Given the description of an element on the screen output the (x, y) to click on. 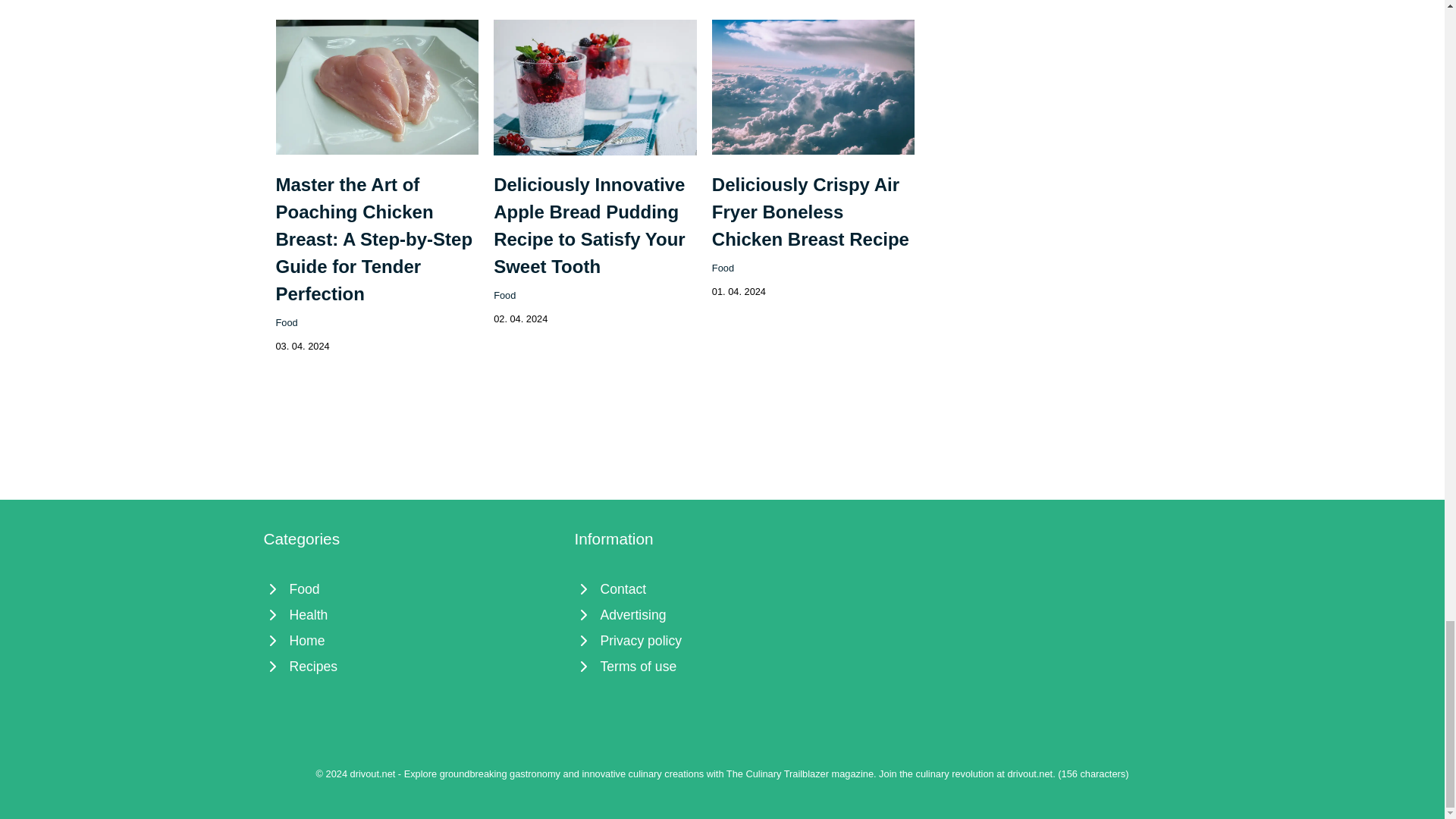
Home (411, 640)
Recipes (411, 666)
Food (722, 267)
Contact (722, 588)
Food (504, 295)
Food (411, 588)
Food (287, 322)
Terms of use (722, 666)
Health (411, 614)
Privacy policy (722, 640)
Advertising (722, 614)
Deliciously Crispy Air Fryer Boneless Chicken Breast Recipe (809, 211)
